Given the description of an element on the screen output the (x, y) to click on. 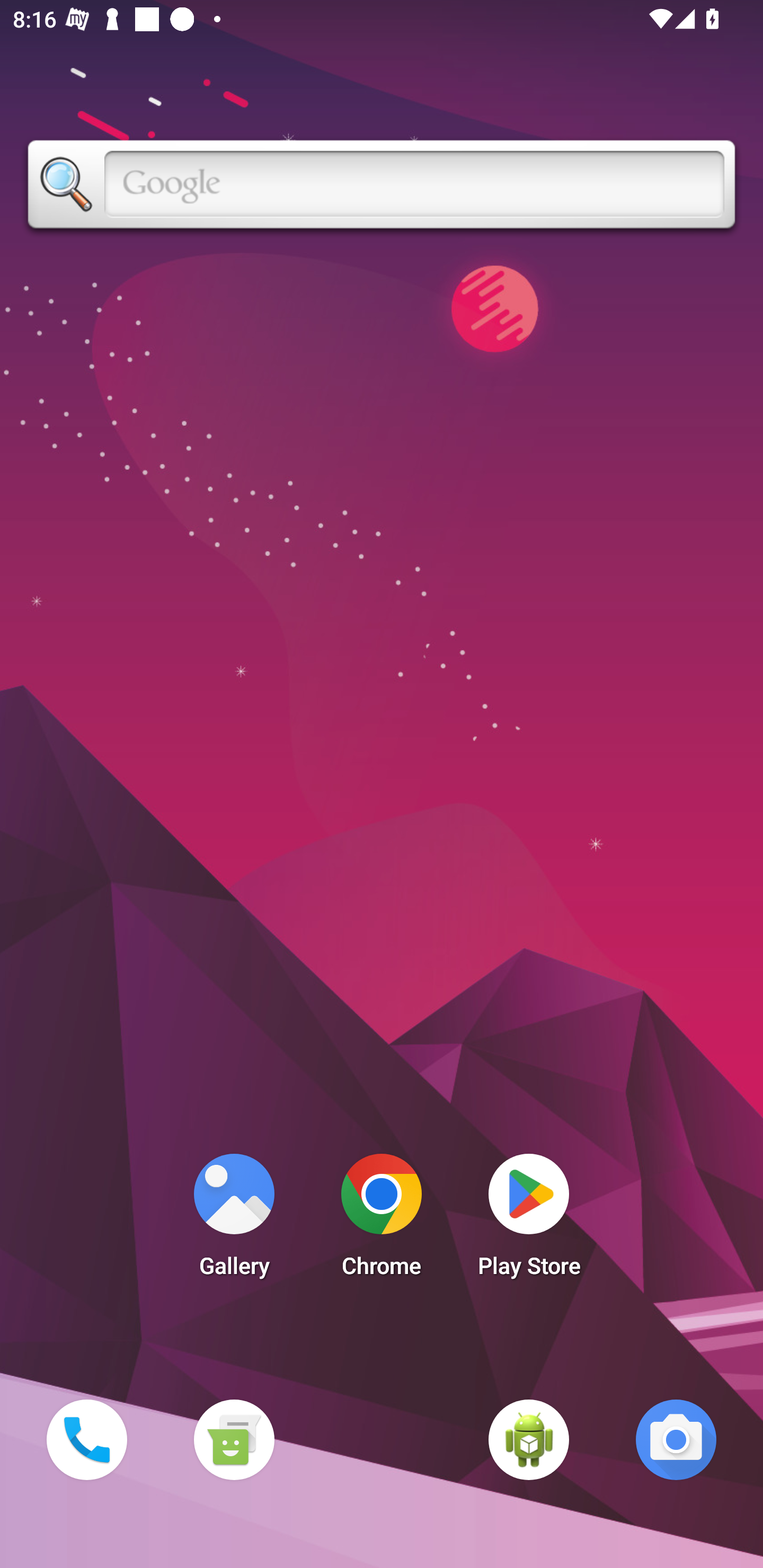
Gallery (233, 1220)
Chrome (381, 1220)
Play Store (528, 1220)
Phone (86, 1439)
Messaging (233, 1439)
WebView Browser Tester (528, 1439)
Camera (676, 1439)
